Given the description of an element on the screen output the (x, y) to click on. 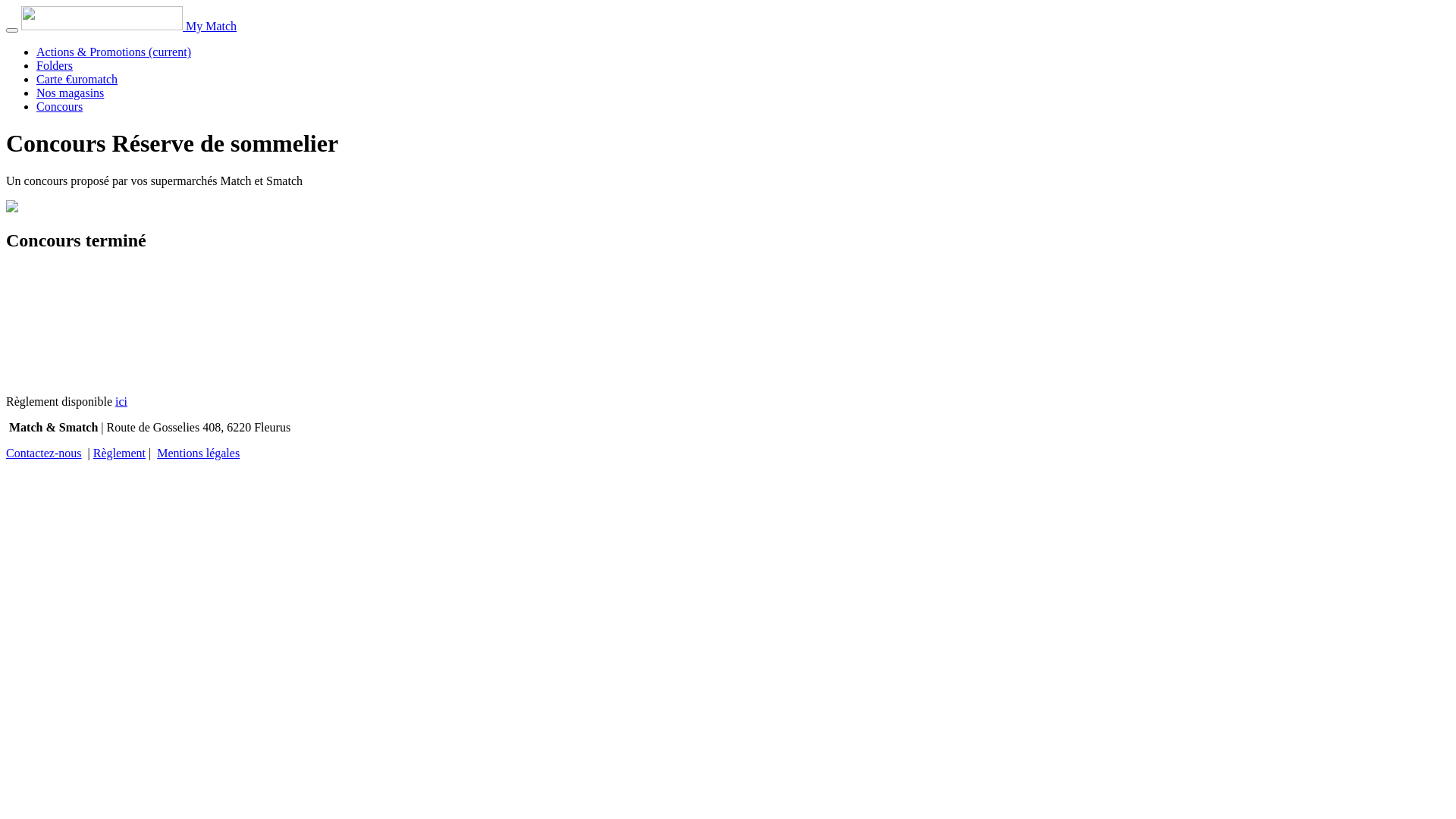
My Match Element type: text (210, 25)
Actions & Promotions (current) Element type: text (113, 51)
Folders Element type: text (54, 65)
Concours Element type: text (59, 106)
Contactez-nous Element type: text (43, 452)
Nos magasins Element type: text (69, 92)
ici Element type: text (121, 401)
